Given the description of an element on the screen output the (x, y) to click on. 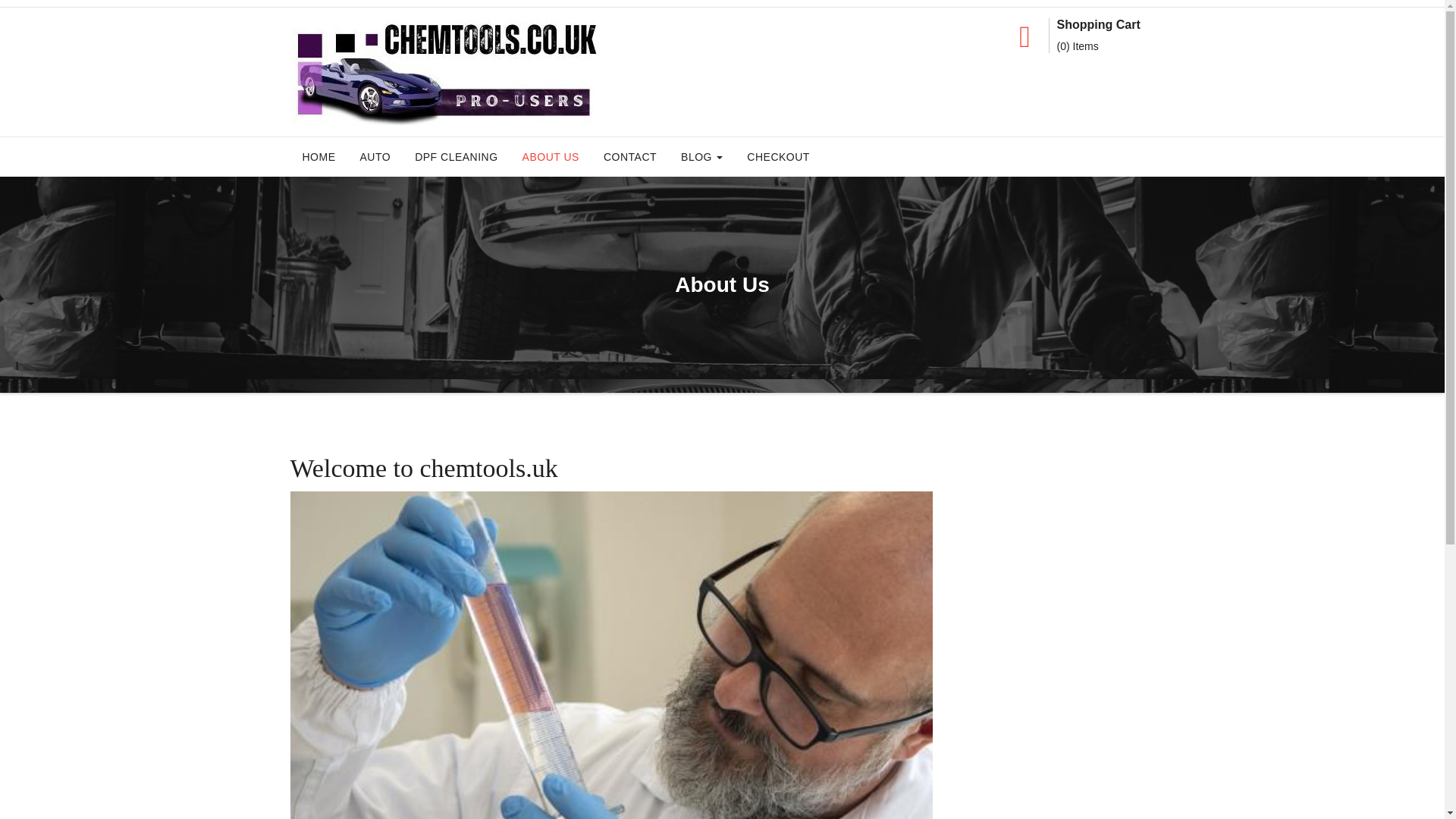
About Us (551, 156)
HOME (318, 156)
DPF CLEANING (456, 156)
Checkout (778, 156)
CONTACT (629, 156)
CHECKOUT (778, 156)
BLOG (701, 156)
AUTO (375, 156)
Contact (629, 156)
AUTO (375, 156)
